Given the description of an element on the screen output the (x, y) to click on. 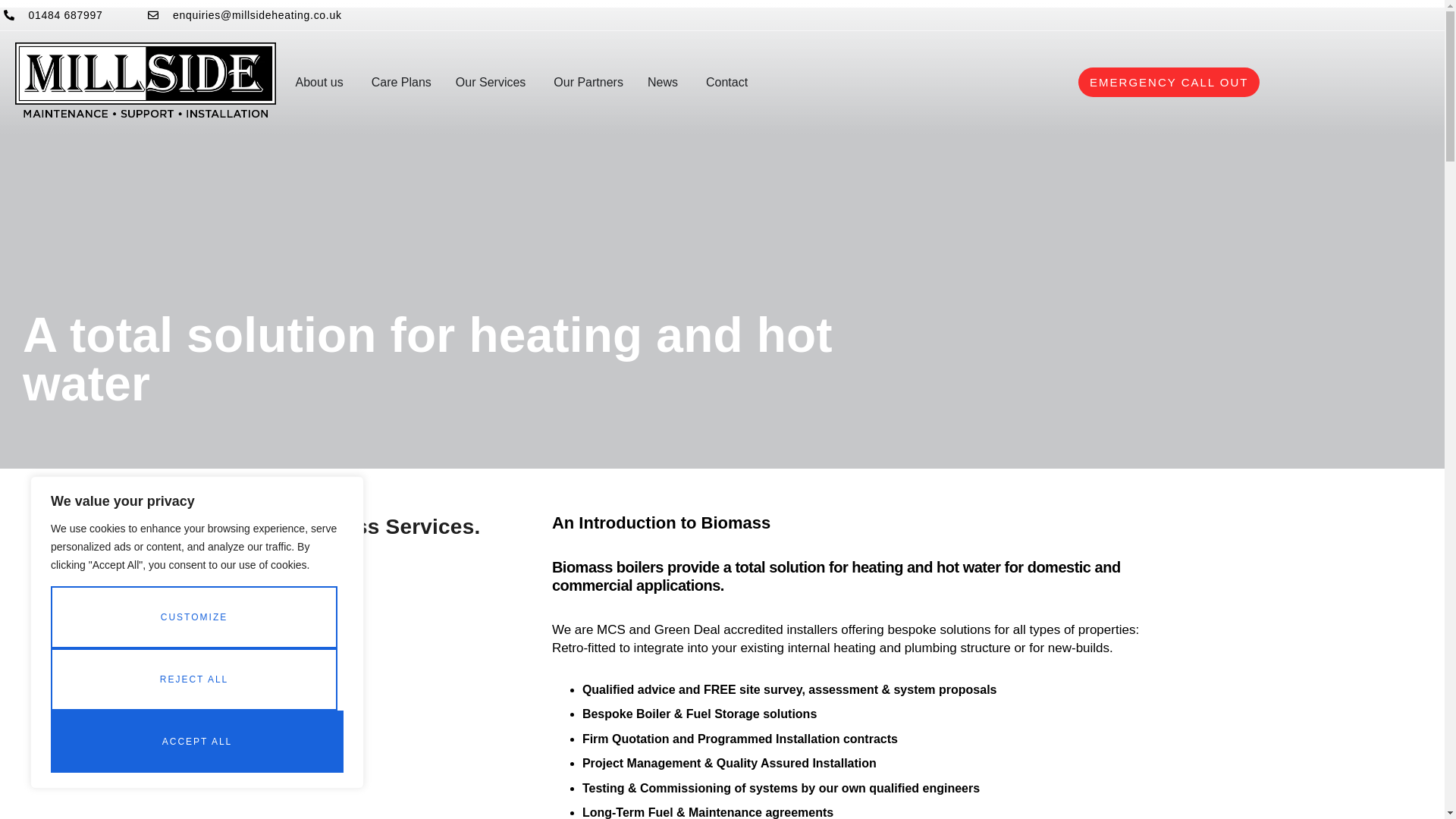
Care Plans (400, 82)
ACCEPT ALL (196, 741)
Contact (727, 82)
REJECT ALL (193, 679)
CUSTOMIZE (193, 617)
Our Partners (588, 82)
